Given the description of an element on the screen output the (x, y) to click on. 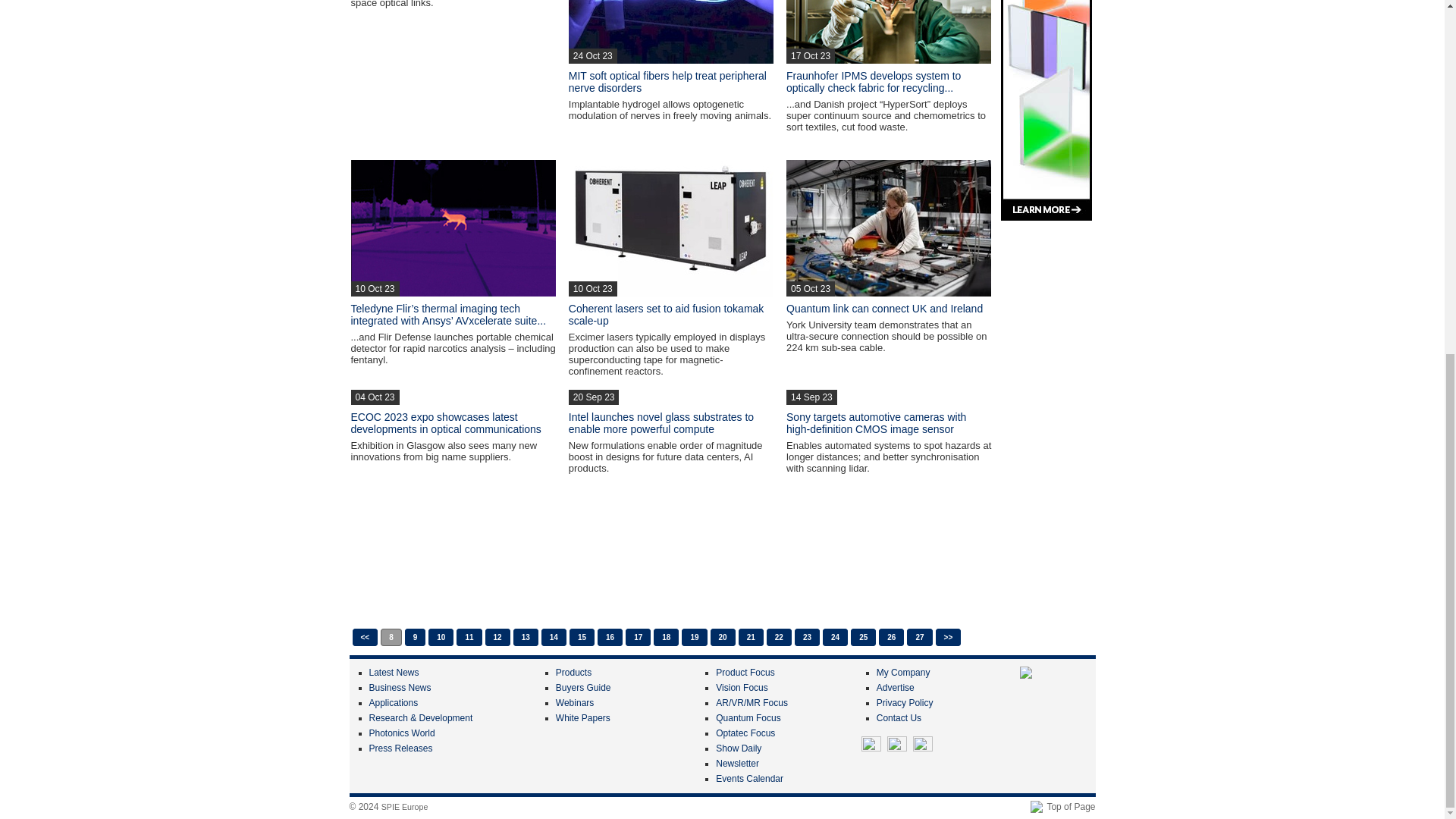
Twitter (870, 745)
RSS Feeds (922, 745)
LinkedIn (896, 745)
